Given the description of an element on the screen output the (x, y) to click on. 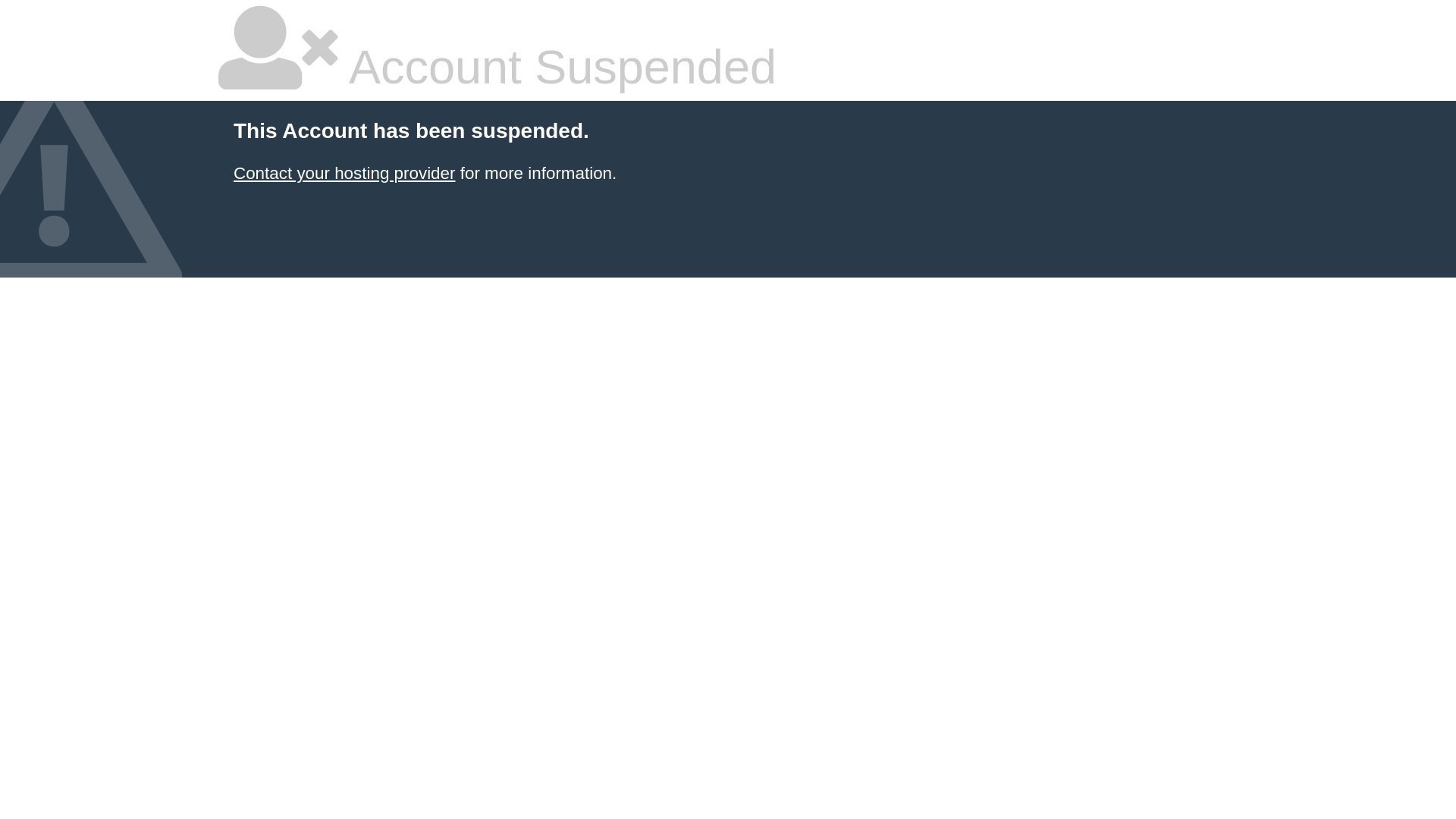
Contact your hosting provider Element type: text (344, 172)
